Given the description of an element on the screen output the (x, y) to click on. 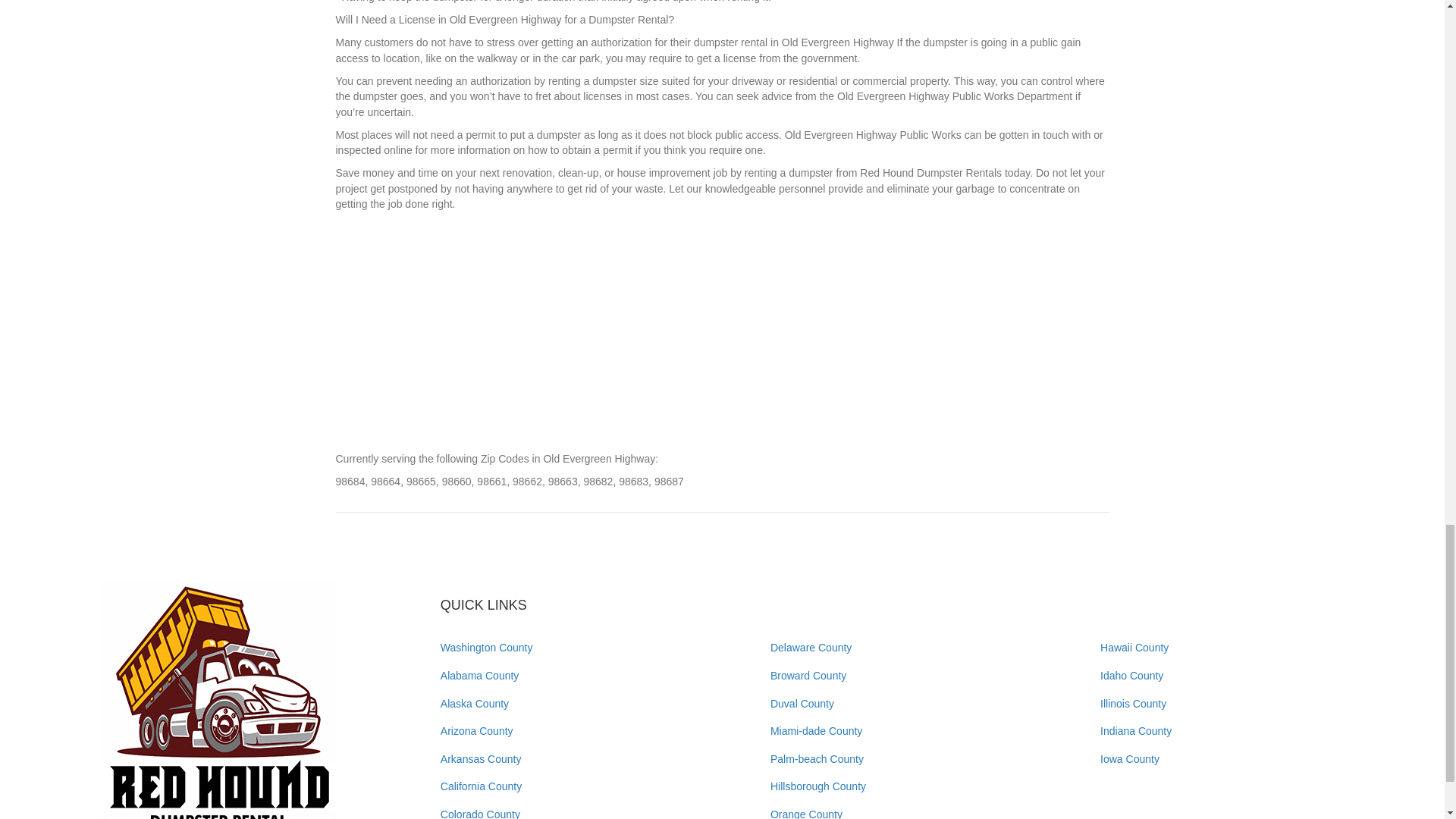
Washington County (486, 647)
Alabama County (480, 675)
redhounddumpster (219, 700)
